Given the description of an element on the screen output the (x, y) to click on. 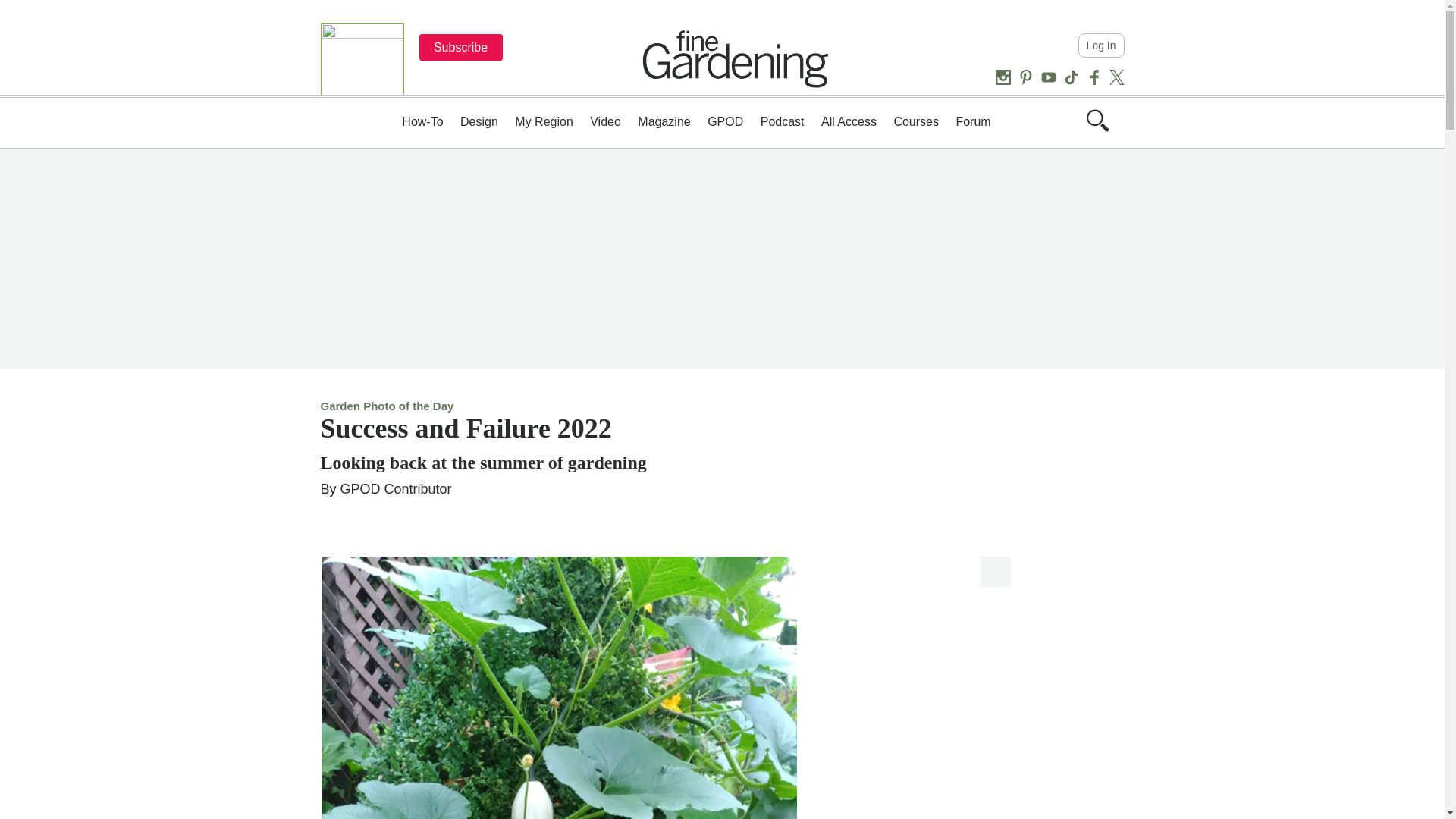
GPOD (724, 121)
Open Search (1097, 127)
My Region (543, 121)
Open Search (1097, 119)
All Access (848, 121)
YouTube (1048, 77)
Instragram (1002, 77)
Subscribe (460, 47)
Podcast (782, 121)
Log In (1101, 45)
Garden Photo of the Day (386, 405)
Pinterest (1024, 77)
Forum (972, 121)
Facebook (1093, 77)
GPOD Contributor (395, 488)
